Given the description of an element on the screen output the (x, y) to click on. 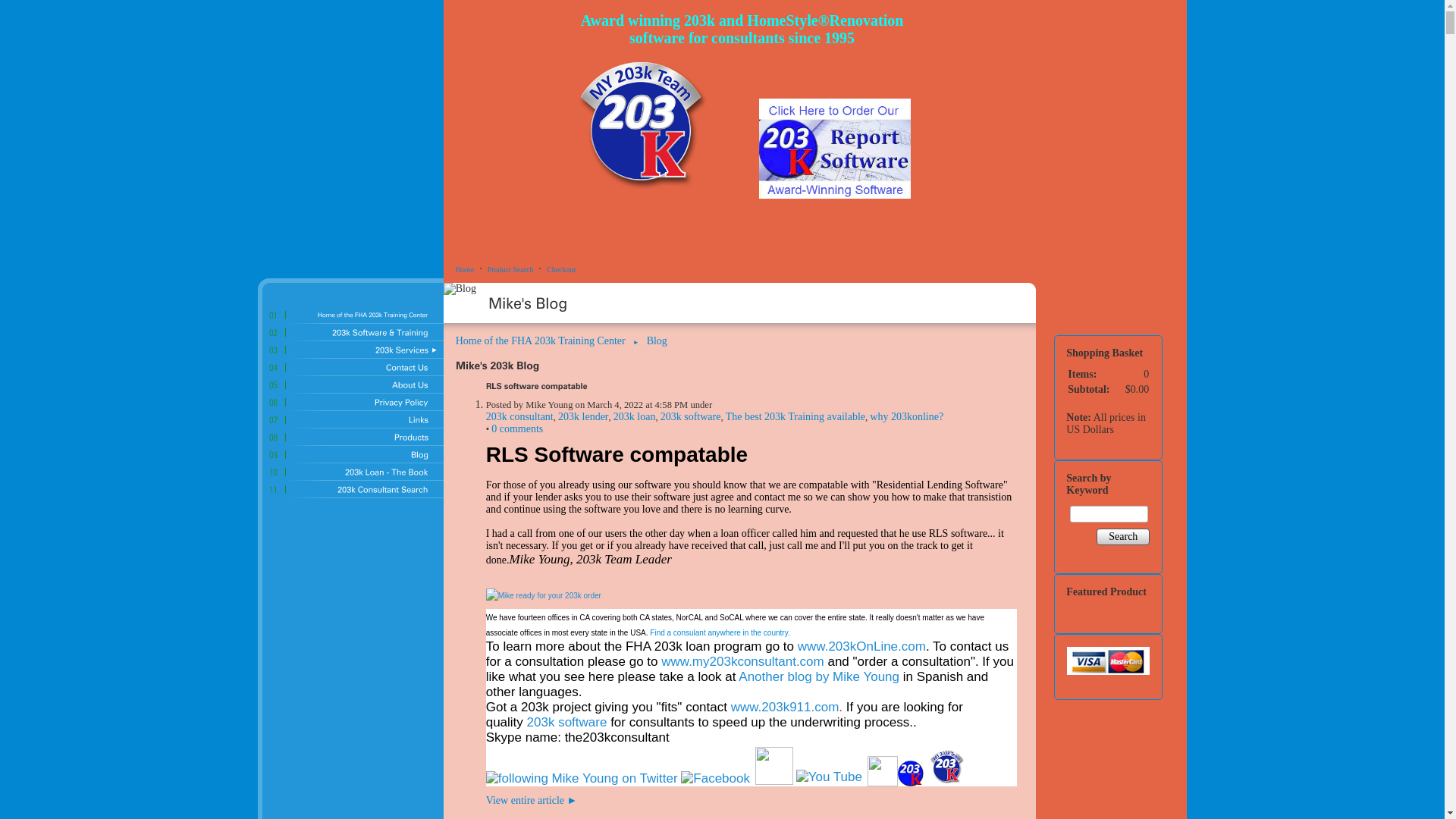
www.203kOnLine.com Element type: text (861, 646)
Mike Young 203k & Section 184 loan consultant Element type: hover (543, 595)
Product Search Element type: text (510, 269)
Blog Element type: text (656, 340)
Home of the FHA 203k Training Center Element type: text (540, 340)
0 comments Element type: text (516, 428)
203k software Element type: text (567, 722)
The best 203k Training available Element type: text (795, 416)
203k consultant Element type: text (519, 416)
www.203k911.com Element type: text (785, 706)
            Element type: text (662, 189)
Search Element type: text (1122, 536)
203k software Element type: text (690, 416)
FHA 203k resource center Element type: hover (910, 779)
203k loan Element type: text (634, 416)
203k Team Leader Mike Young Element type: hover (543, 595)
www.my203kconsultant.com Element type: text (742, 661)
Your resource for renovation lending Element type: hover (910, 773)
Mike's video blog Element type: hover (829, 776)
Checkout Element type: text (560, 269)
Another blog by Mike Young Element type: text (818, 676)
203k lender Element type: text (583, 416)
Follow Mike Young on Linkedin Element type: hover (773, 778)
Find a consulant anywhere in the country. Element type: text (719, 632)
why 203konline? Element type: text (906, 416)
Like us on Facebook Element type: hover (714, 778)
Home Element type: text (464, 269)
